Given the description of an element on the screen output the (x, y) to click on. 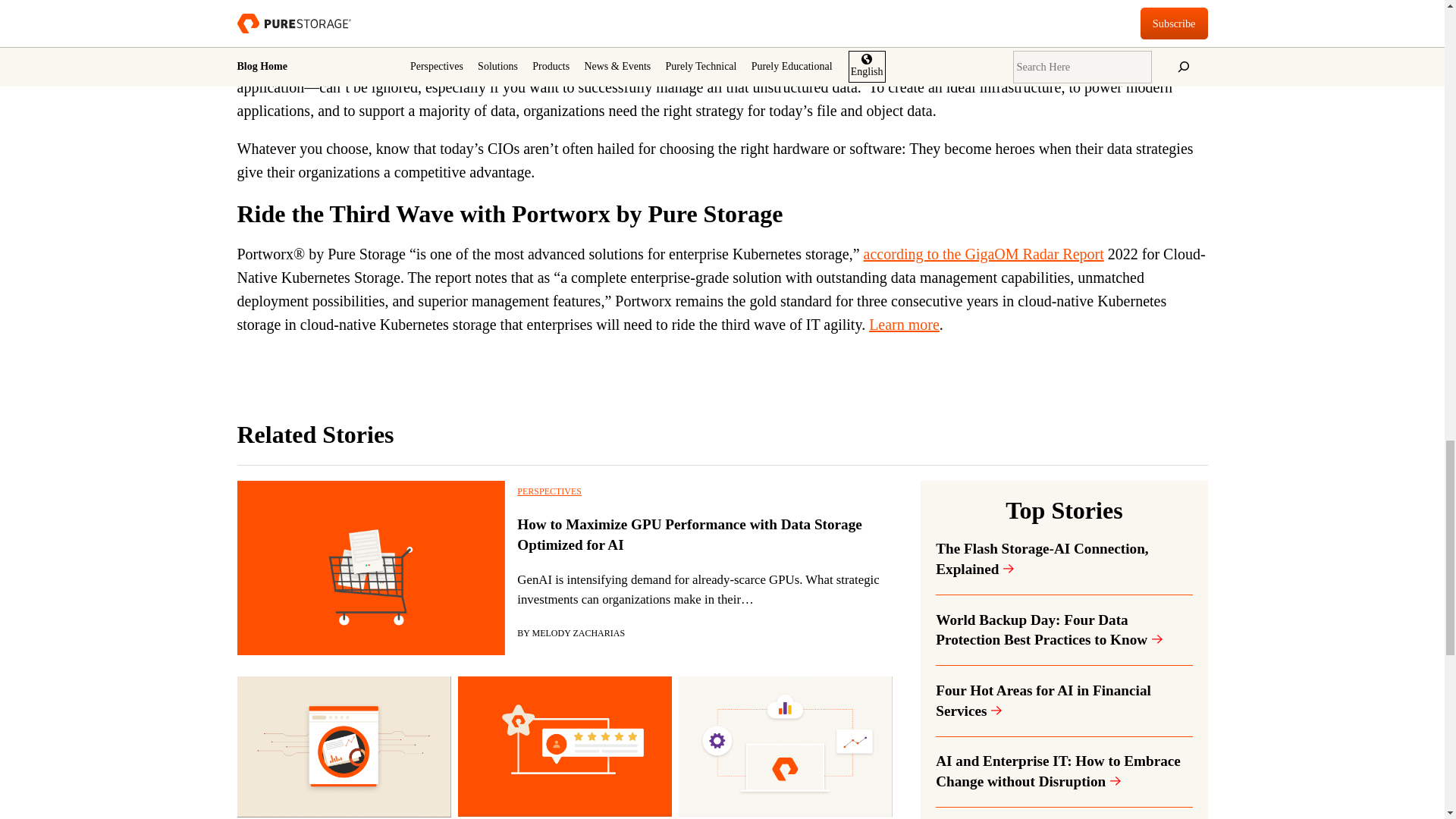
PERSPECTIVES (548, 491)
Learn more (904, 324)
according to the GigaOM Radar Report (983, 253)
